Given the description of an element on the screen output the (x, y) to click on. 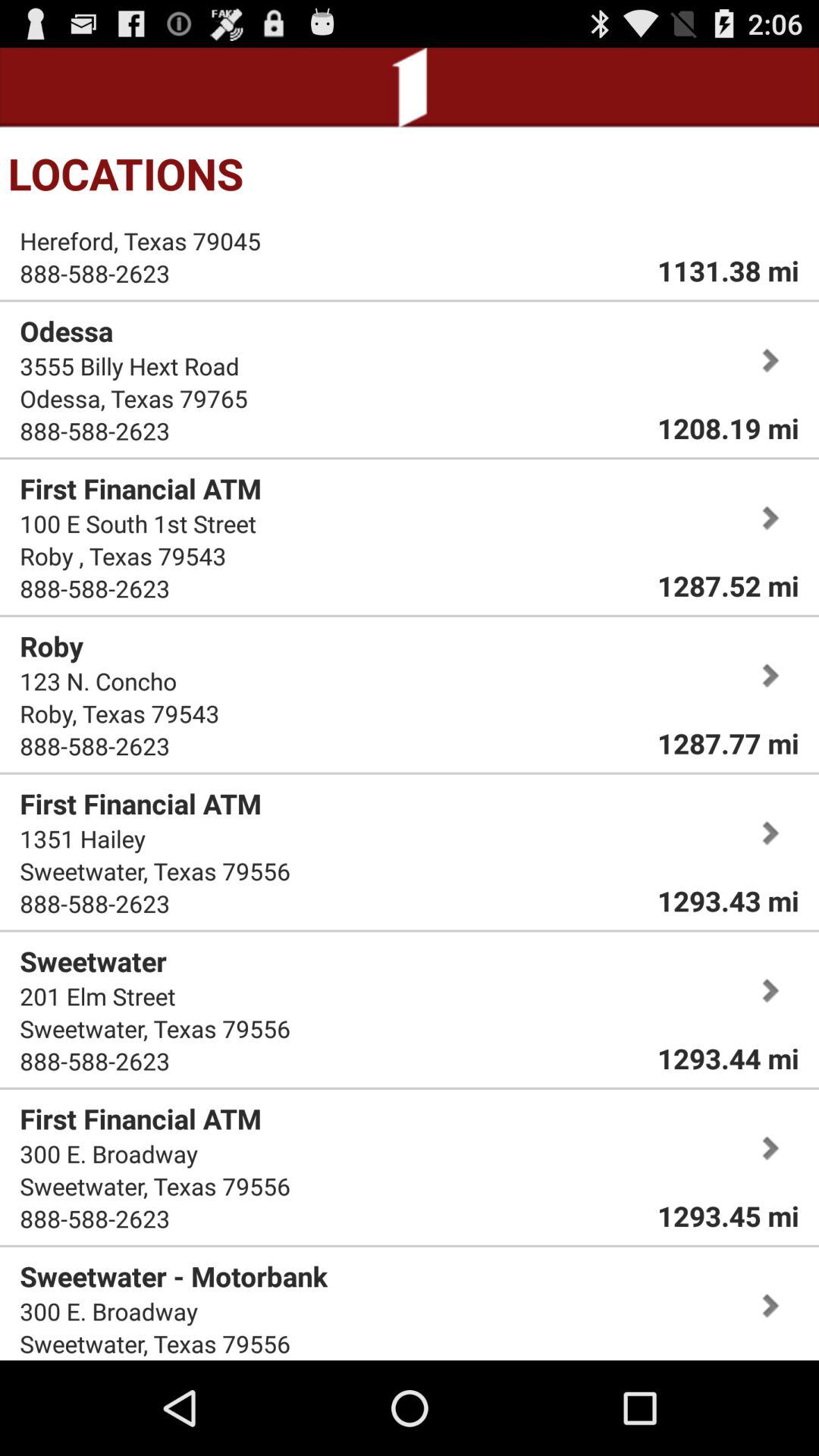
tap the item above sweetwater, texas 79556 app (82, 838)
